Given the description of an element on the screen output the (x, y) to click on. 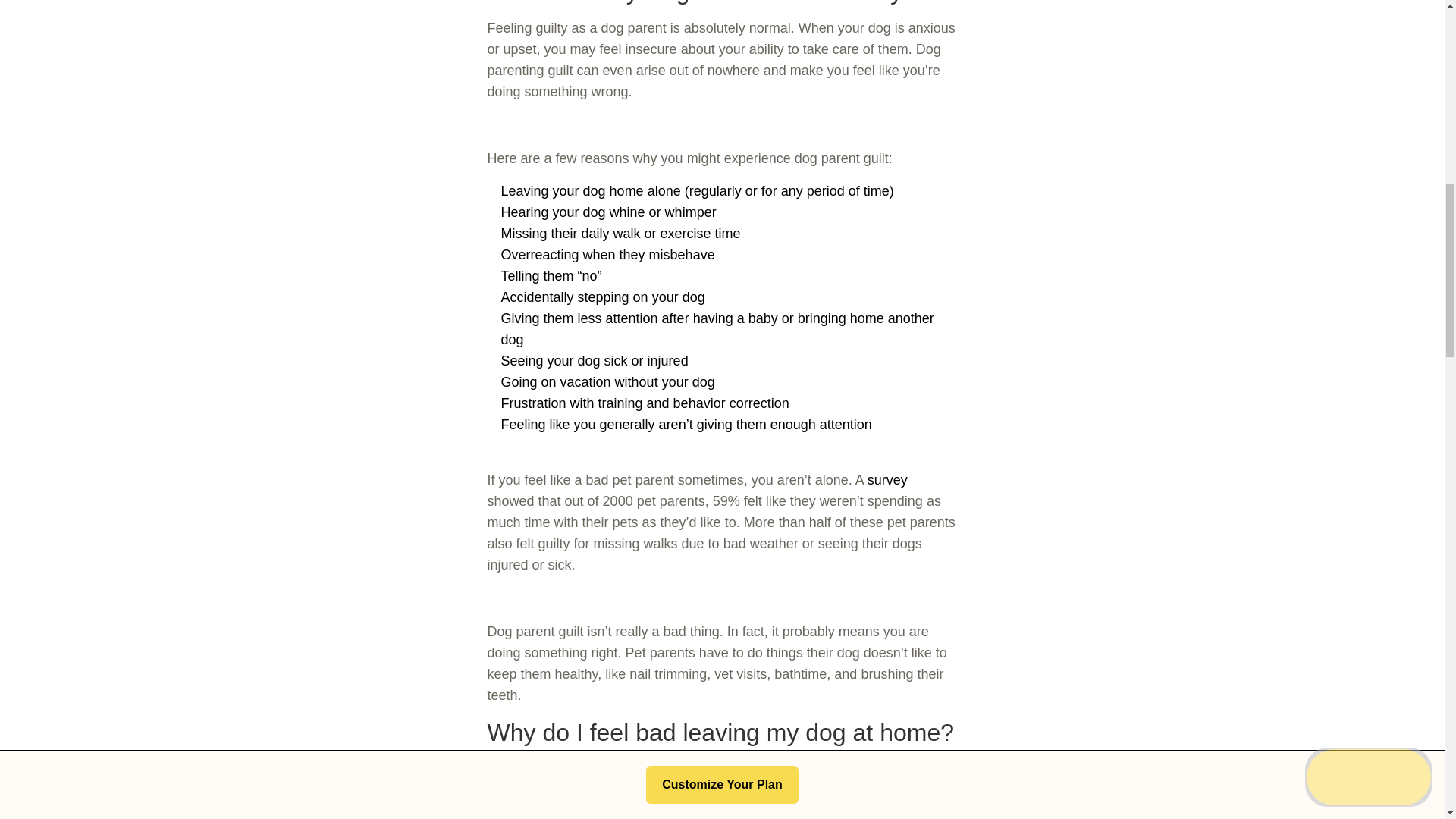
survey (887, 479)
